Given the description of an element on the screen output the (x, y) to click on. 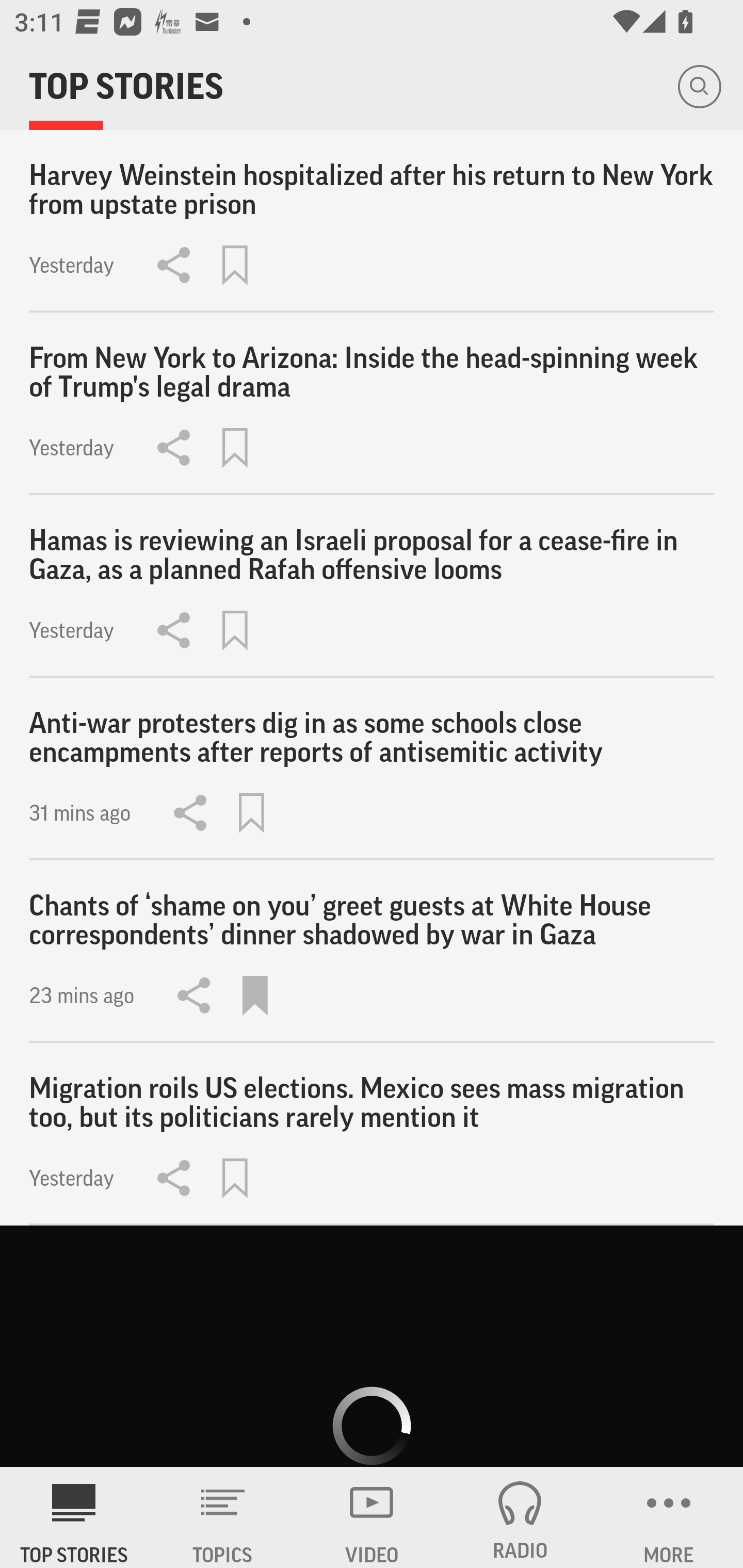
toggle controls (371, 1346)
AP News TOP STORIES (74, 1517)
TOPICS (222, 1517)
VIDEO (371, 1517)
RADIO (519, 1517)
MORE (668, 1517)
